Given the description of an element on the screen output the (x, y) to click on. 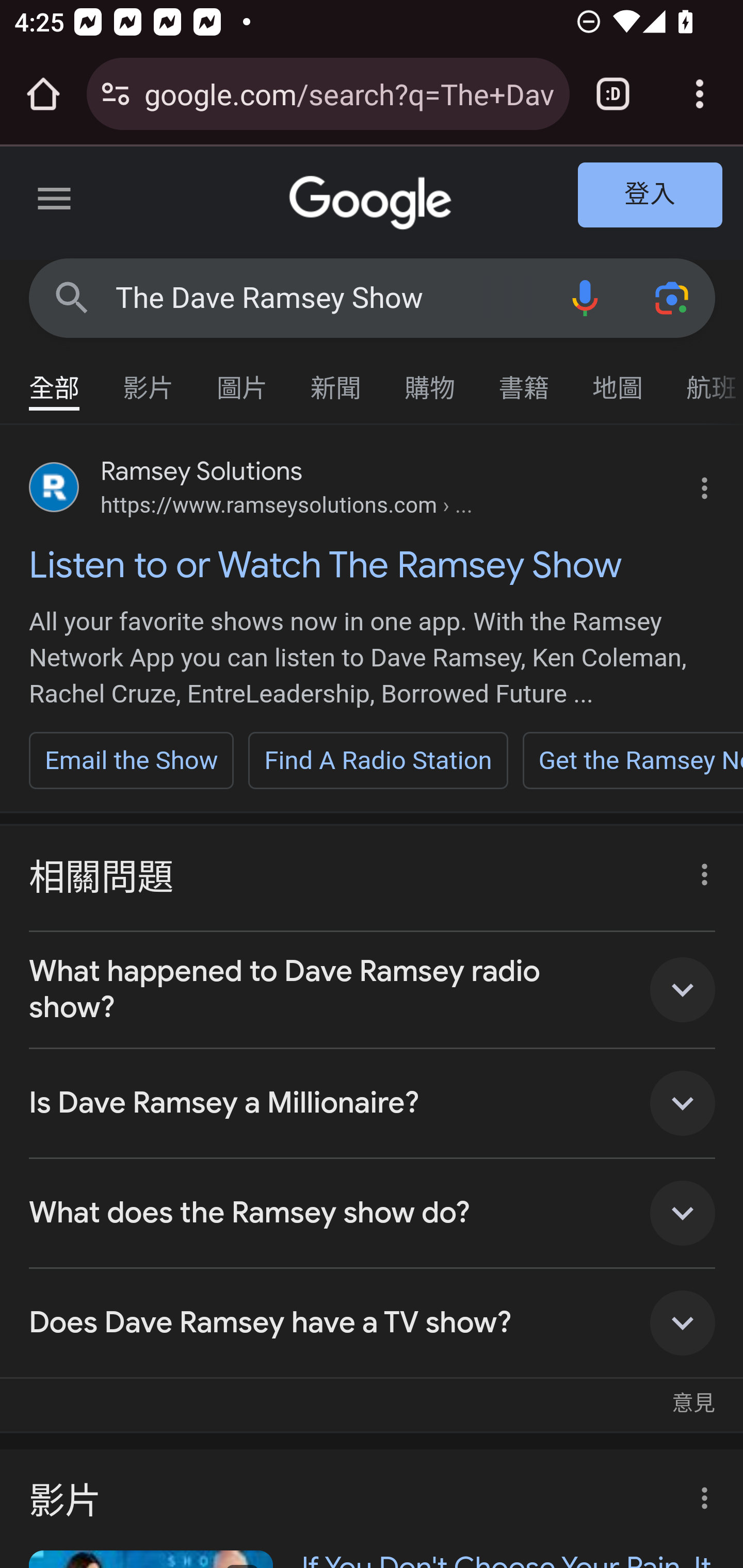
Open the home page (43, 93)
Connection is secure (115, 93)
Switch or close tabs (612, 93)
Customize and control Google Chrome (699, 93)
主選單 (54, 202)
Google (372, 203)
登入 (650, 195)
Google 搜尋 (71, 296)
使用相機或相片搜尋 (672, 296)
The Dave Ramsey Show (328, 297)
影片 (148, 378)
圖片 (242, 378)
新聞 (336, 378)
購物 (430, 378)
書籍 (524, 378)
地圖 (618, 378)
航班 (703, 378)
Listen to or Watch The Ramsey Show (372, 564)
Email the Show (131, 760)
Find A Radio Station (377, 760)
Get the Ramsey Network App (632, 760)
關於此結果 (698, 869)
What happened to Dave Ramsey radio show? (372, 989)
Is Dave Ramsey a Millionaire? (372, 1103)
What does the Ramsey show do? (372, 1213)
Does Dave Ramsey have a TV show? (372, 1322)
意見 (693, 1392)
關於此結果 (698, 1491)
